Given the description of an element on the screen output the (x, y) to click on. 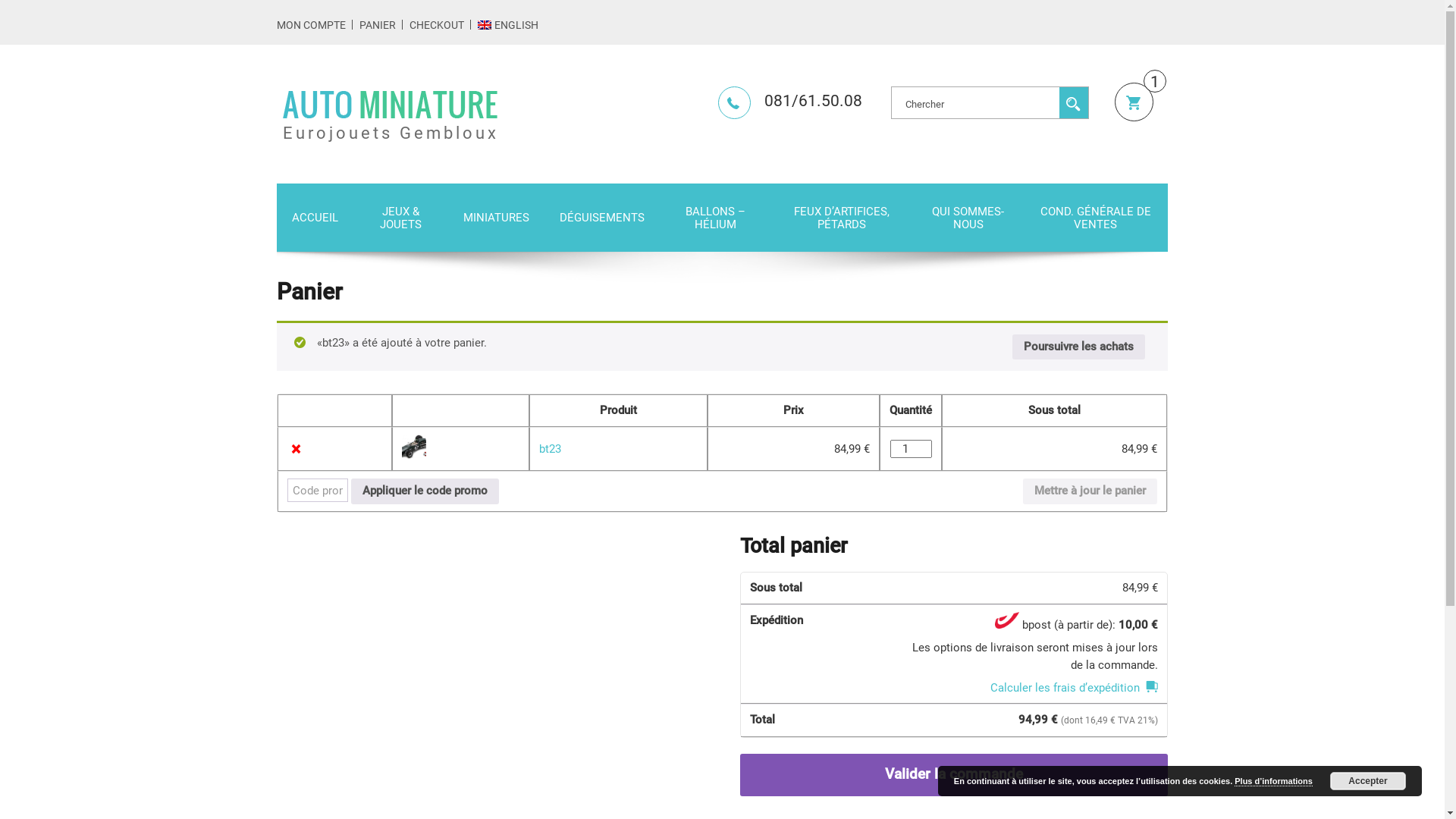
CHECKOUT Element type: text (436, 24)
Panier
1 Element type: text (1133, 101)
Appliquer le code promo Element type: text (424, 491)
Poster Element type: text (1073, 102)
JEUX & JOUETS Element type: text (400, 217)
Valider la commande Element type: text (953, 774)
PANIER Element type: text (377, 24)
QUI SOMMES-NOUS Element type: text (968, 217)
MINIATURES Element type: text (496, 216)
Poursuivre les achats Element type: text (1078, 347)
ENGLISH Element type: text (507, 24)
MON COMPTE Element type: text (310, 24)
bt23 Element type: text (550, 448)
ACCUEIL Element type: text (314, 216)
081/61.50.08 Element type: text (790, 100)
Accepter Element type: text (1367, 780)
